Given the description of an element on the screen output the (x, y) to click on. 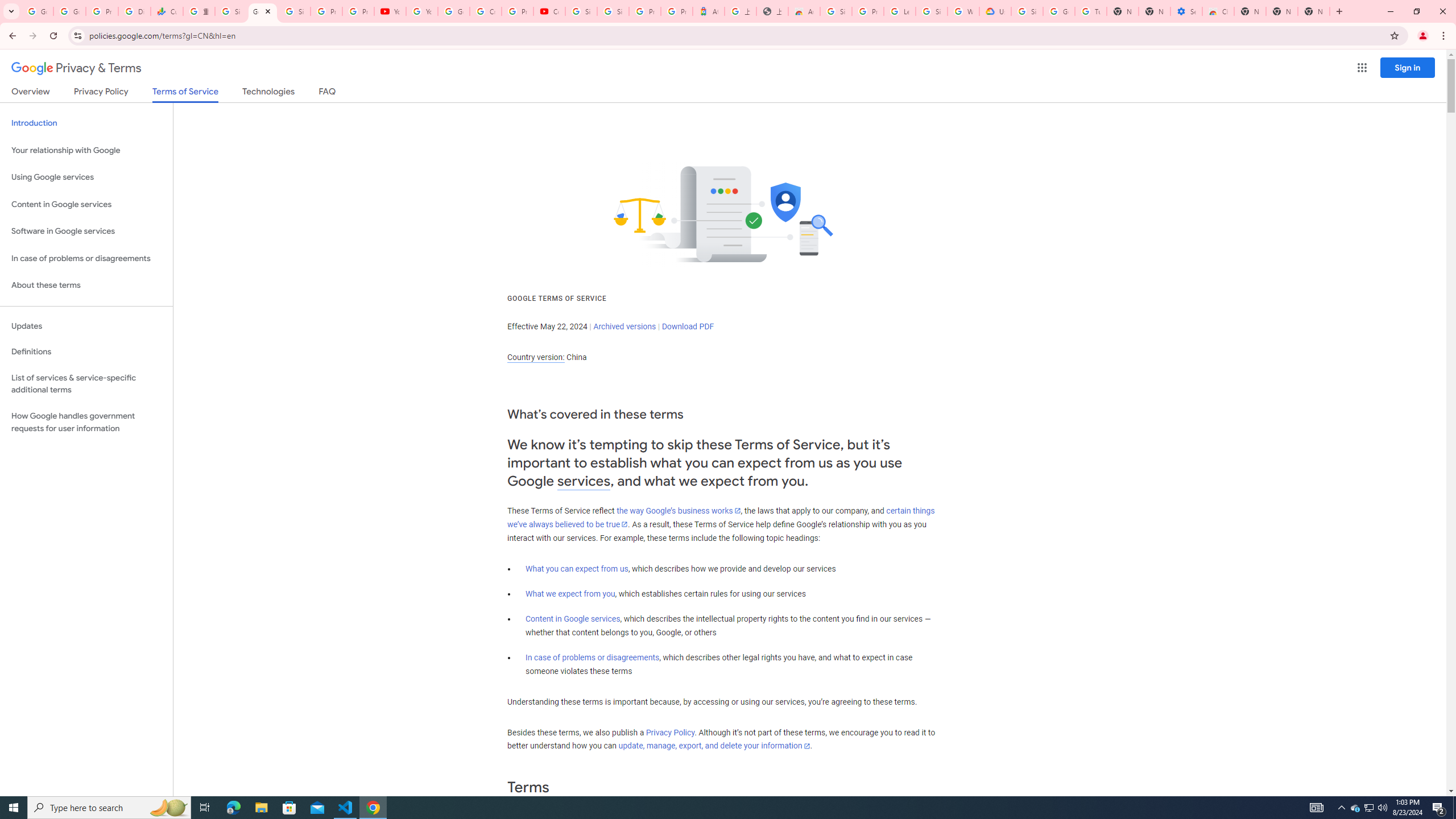
How Google handles government requests for user information (86, 422)
update, manage, export, and delete your information (714, 746)
Content in Google services (572, 618)
List of services & service-specific additional terms (86, 383)
Archived versions (624, 326)
What we expect from you (570, 593)
Sign in - Google Accounts (581, 11)
Introduction (86, 122)
